Given the description of an element on the screen output the (x, y) to click on. 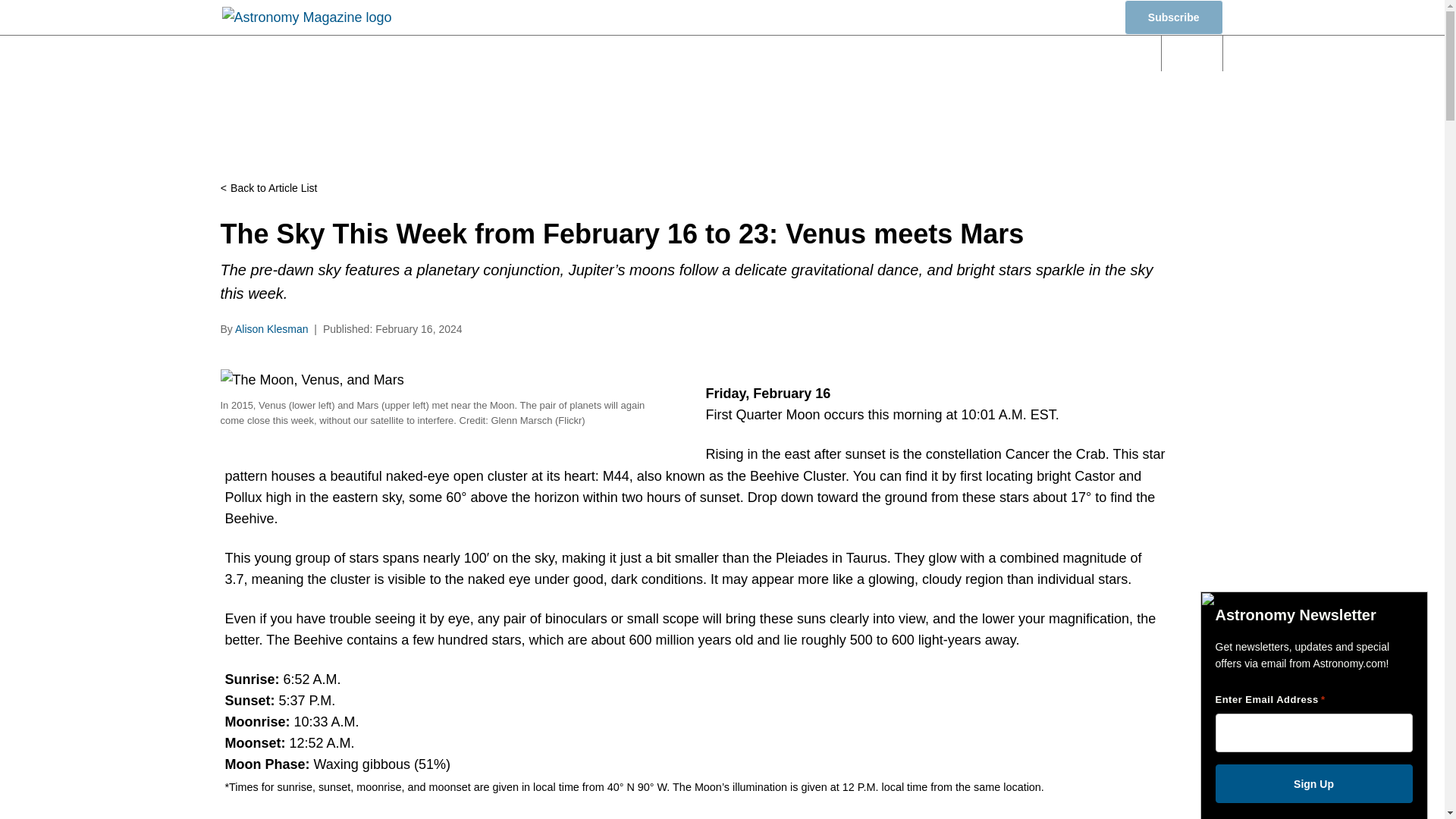
Shop (1081, 18)
Space Exploration (850, 53)
Sign Up (1313, 783)
The Magazine (987, 53)
Observing (720, 53)
News (532, 53)
Science (618, 53)
Subscribe (1173, 17)
Search (1192, 53)
Posts by Alison Klesman (271, 328)
